Given the description of an element on the screen output the (x, y) to click on. 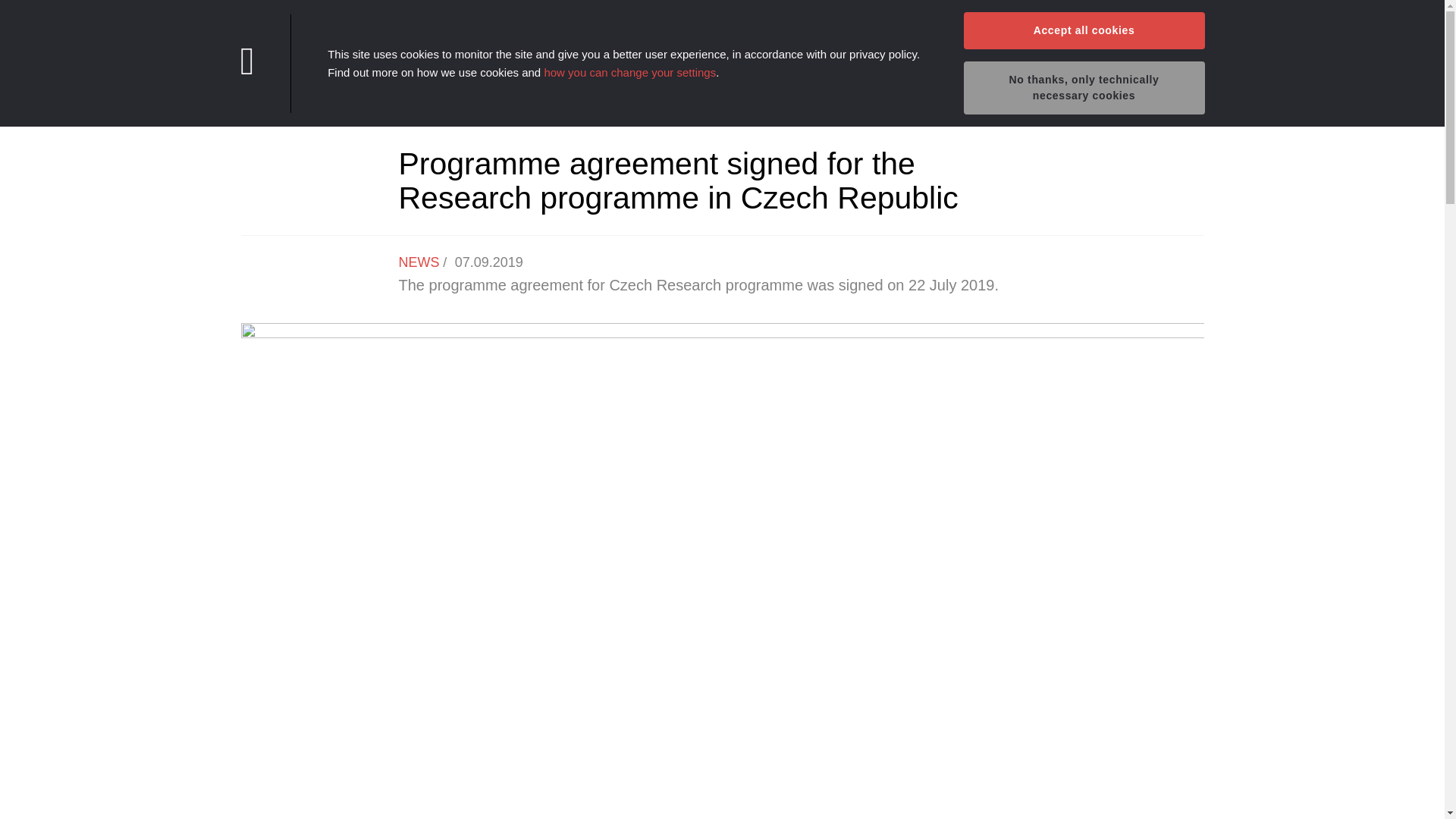
No thanks, only technically necessary cookies (1083, 87)
how you can change your settings (629, 71)
Accept all cookies (1083, 30)
